Given the description of an element on the screen output the (x, y) to click on. 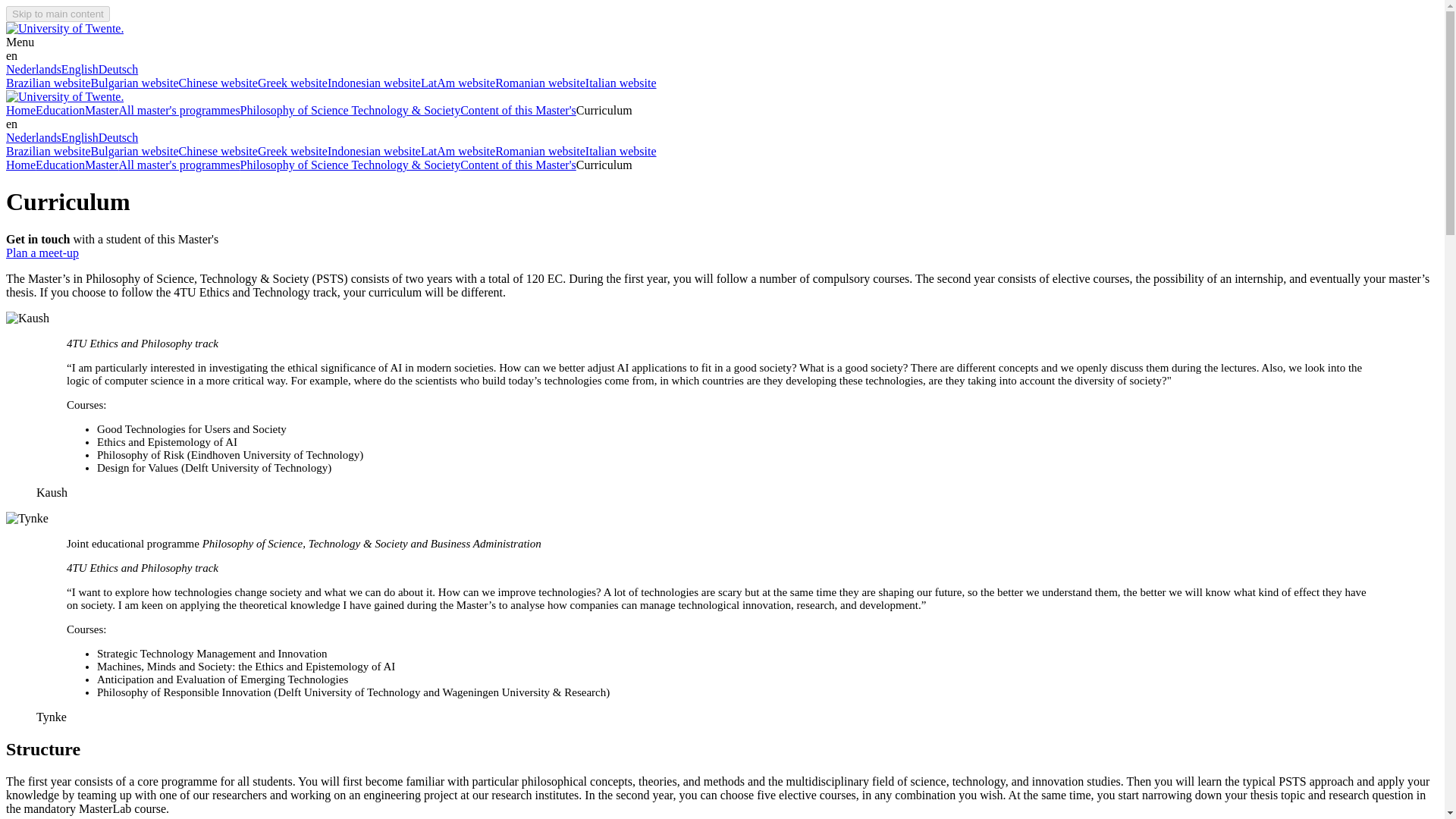
Education (59, 110)
Home (19, 164)
Deutsch (118, 137)
Chinese website (217, 82)
Italian website (620, 151)
Home (19, 110)
Romanian website (540, 151)
Education (59, 164)
Plan a meet-up (41, 252)
Master (100, 110)
